Given the description of an element on the screen output the (x, y) to click on. 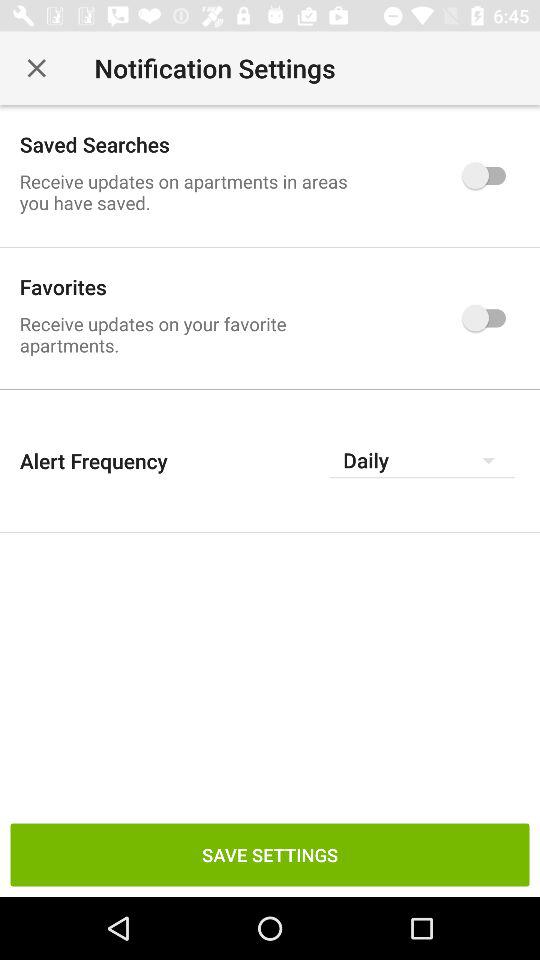
toggle autoplay option (488, 175)
